Given the description of an element on the screen output the (x, y) to click on. 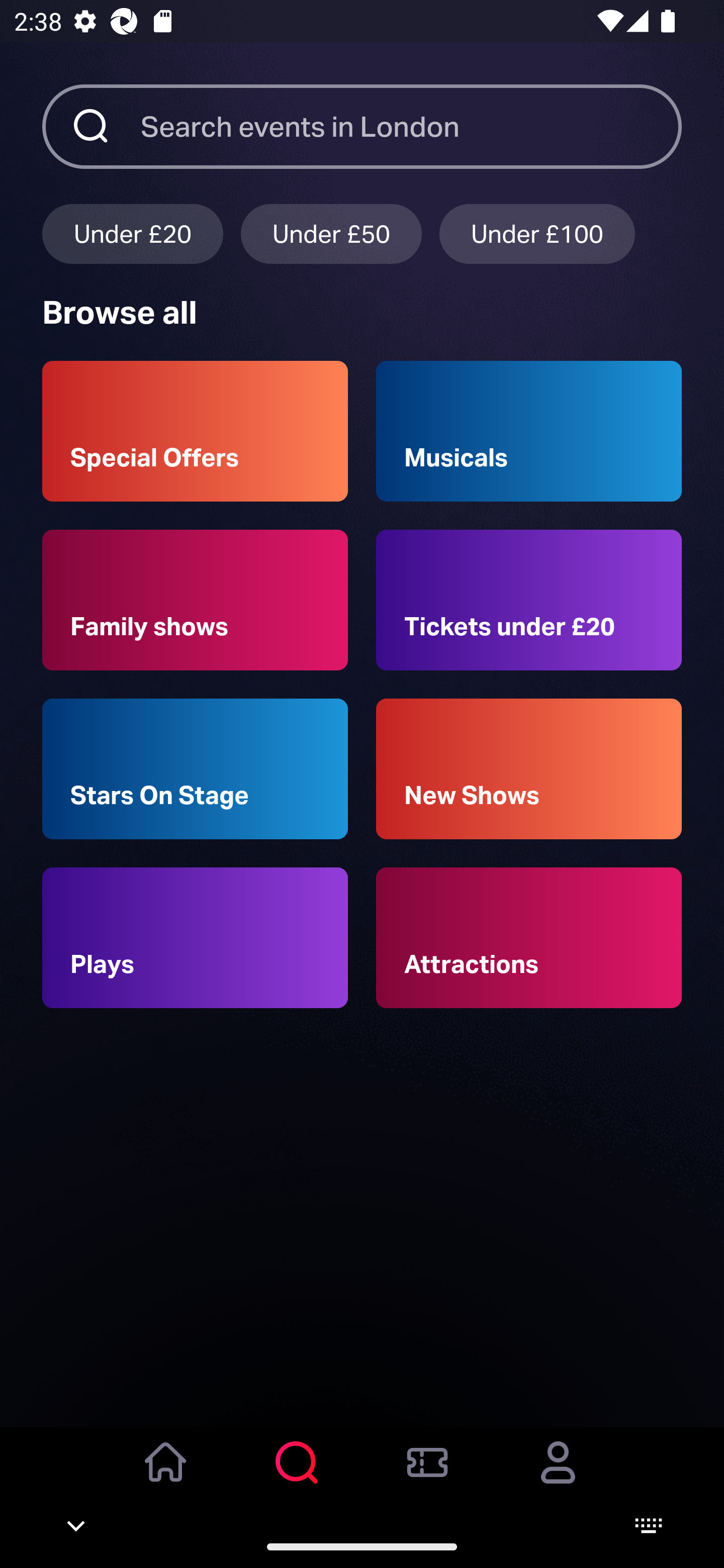
Search events in London (411, 126)
Under £20 (131, 233)
Under £50 (331, 233)
Under £100 (536, 233)
Special Offers (194, 430)
Musicals (528, 430)
Family shows (194, 600)
Tickets under £20  (528, 600)
Stars On Stage (194, 768)
New Shows (528, 768)
Plays (194, 937)
Attractions  (528, 937)
Home (165, 1475)
Orders (427, 1475)
Account (558, 1475)
